Given the description of an element on the screen output the (x, y) to click on. 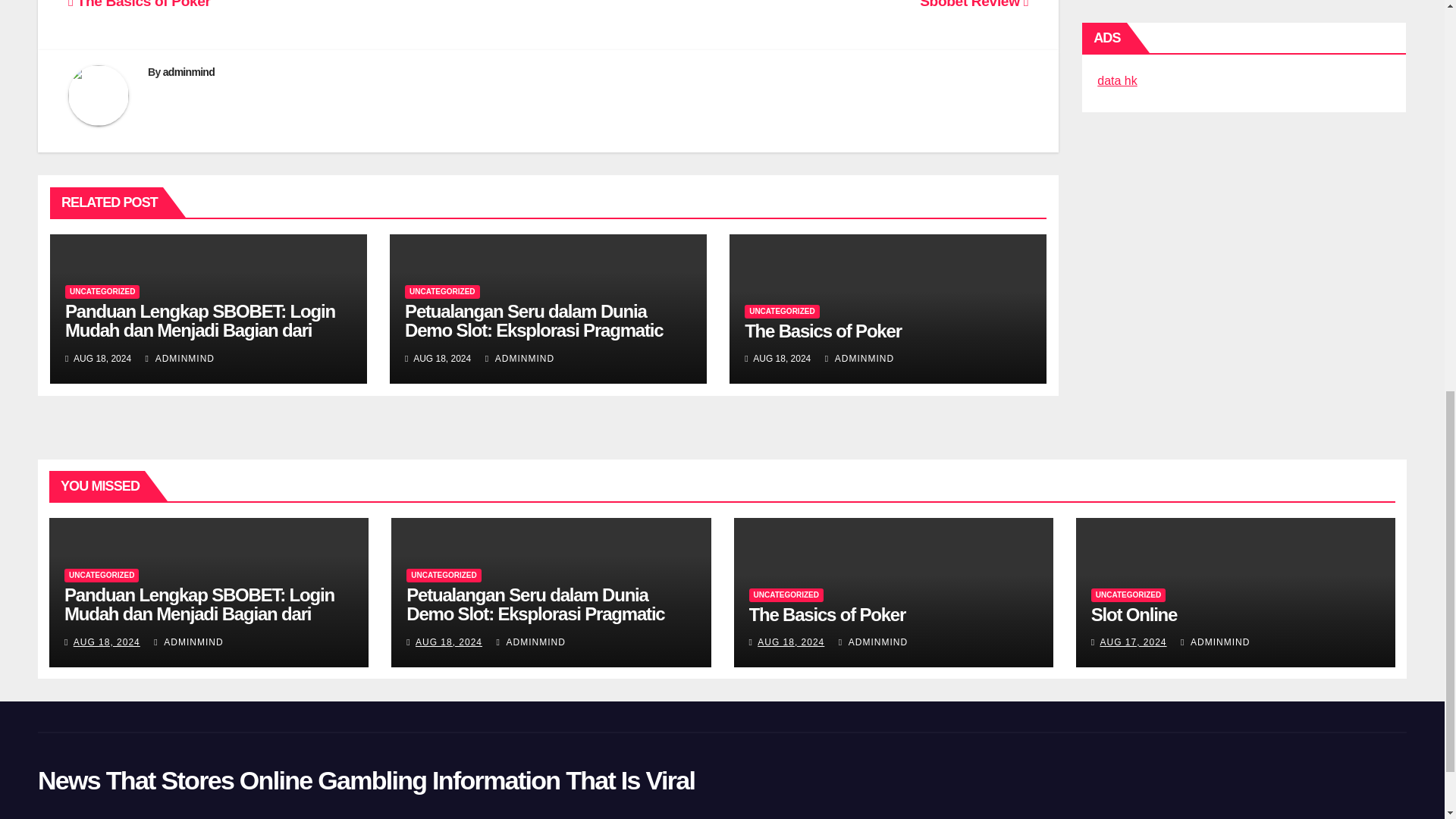
Permalink to: The Basics of Poker (827, 614)
UNCATEGORIZED (441, 291)
The Basics of Poker (139, 4)
ADMINMIND (519, 357)
Permalink to: Slot Online (1133, 614)
Permalink to: The Basics of Poker (822, 331)
